Given the description of an element on the screen output the (x, y) to click on. 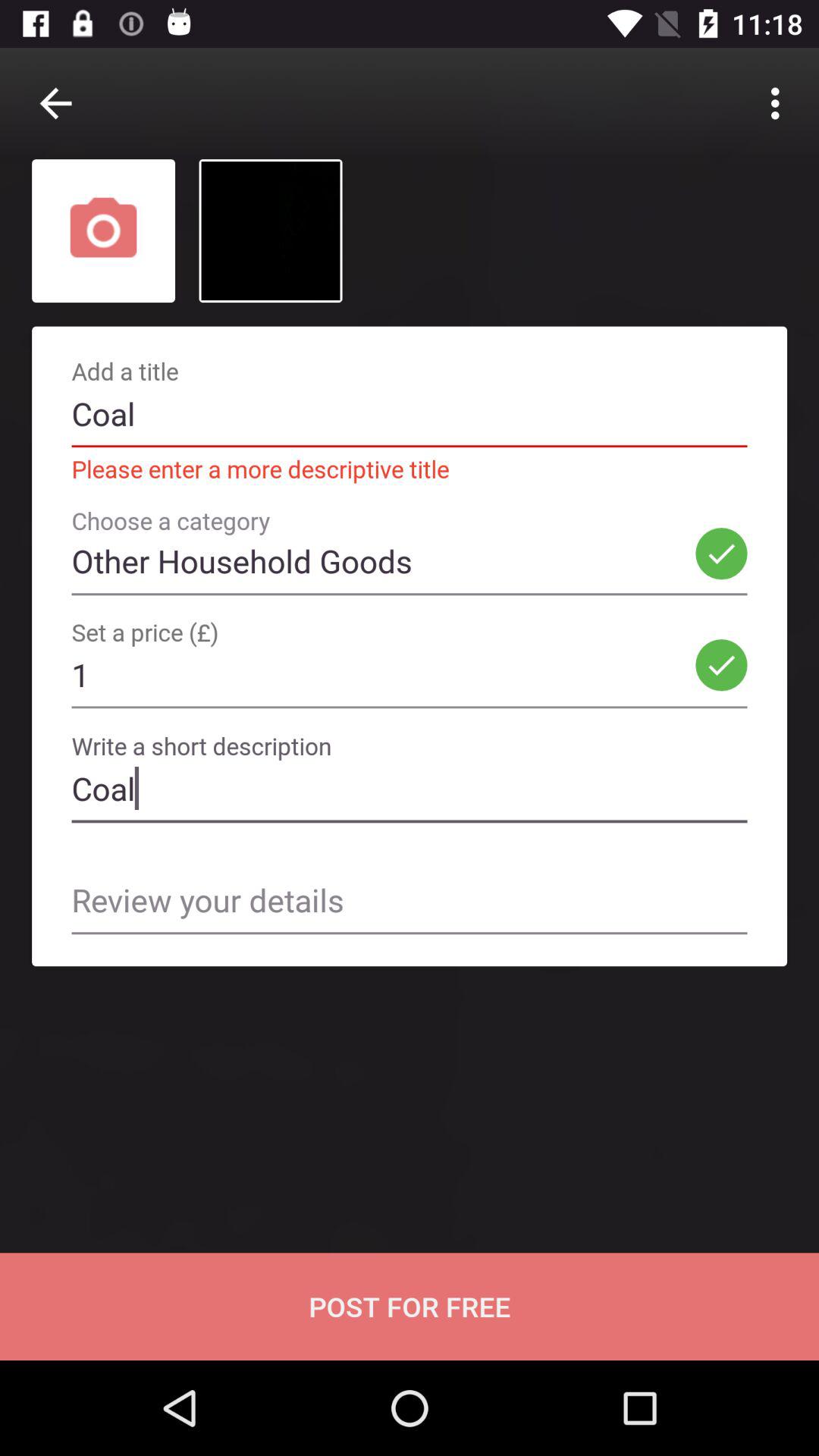
select the option beside the 1 in the set a price text field (721, 664)
click on the 3 vertical dots at the top right corner of the page (779, 103)
select the field below 1 (409, 765)
click on coal text in add a title bar (409, 414)
